Given the description of an element on the screen output the (x, y) to click on. 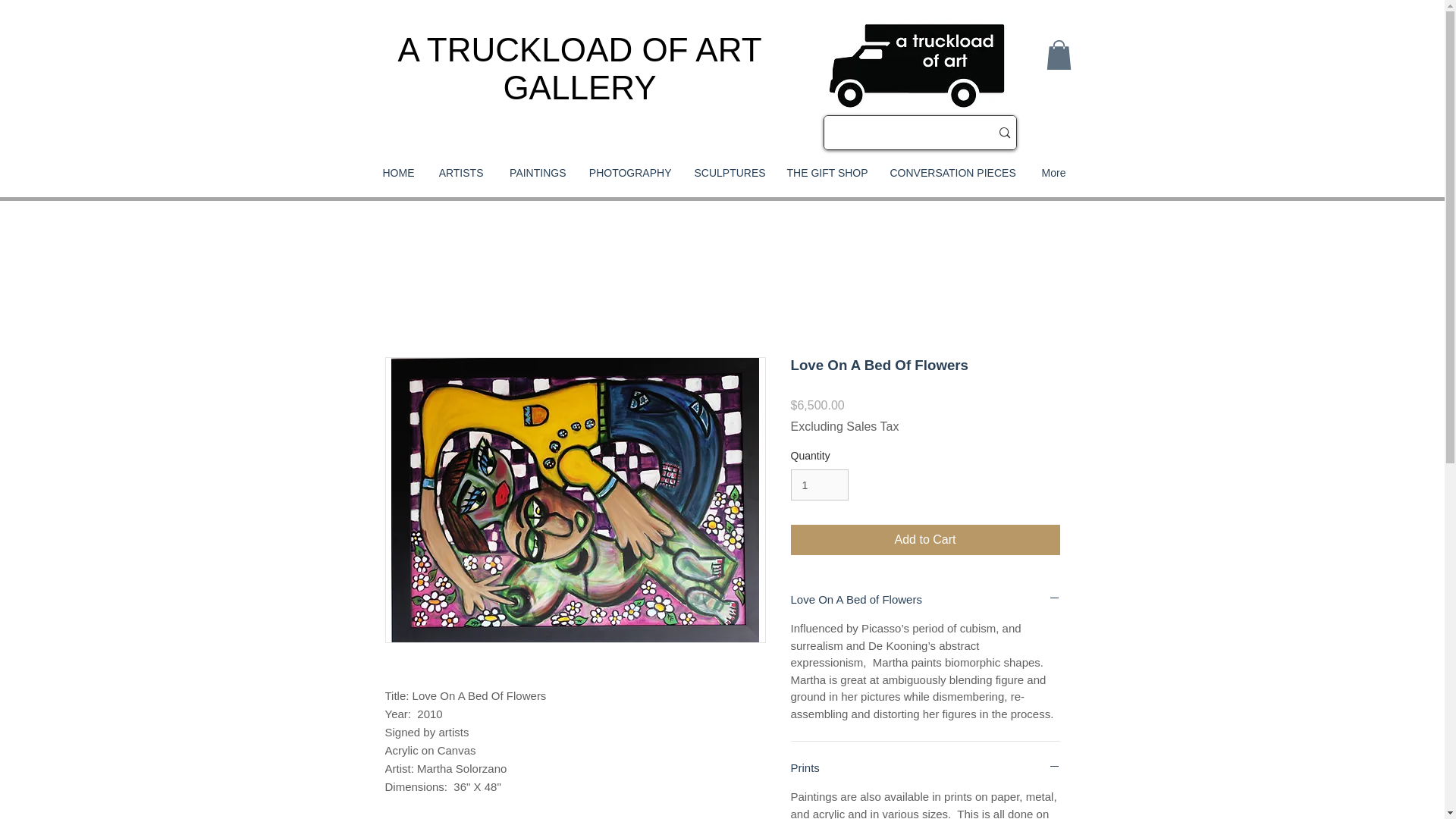
Add to Cart (924, 539)
Prints (924, 767)
SCULPTURES (728, 172)
PHOTOGRAPHY (630, 172)
ARTISTS (460, 172)
HOME (395, 172)
PAINTINGS (535, 172)
CONVERSATION PIECES (950, 172)
Love On A Bed of Flowers (924, 599)
THE GIFT SHOP (825, 172)
1 (818, 484)
